Given the description of an element on the screen output the (x, y) to click on. 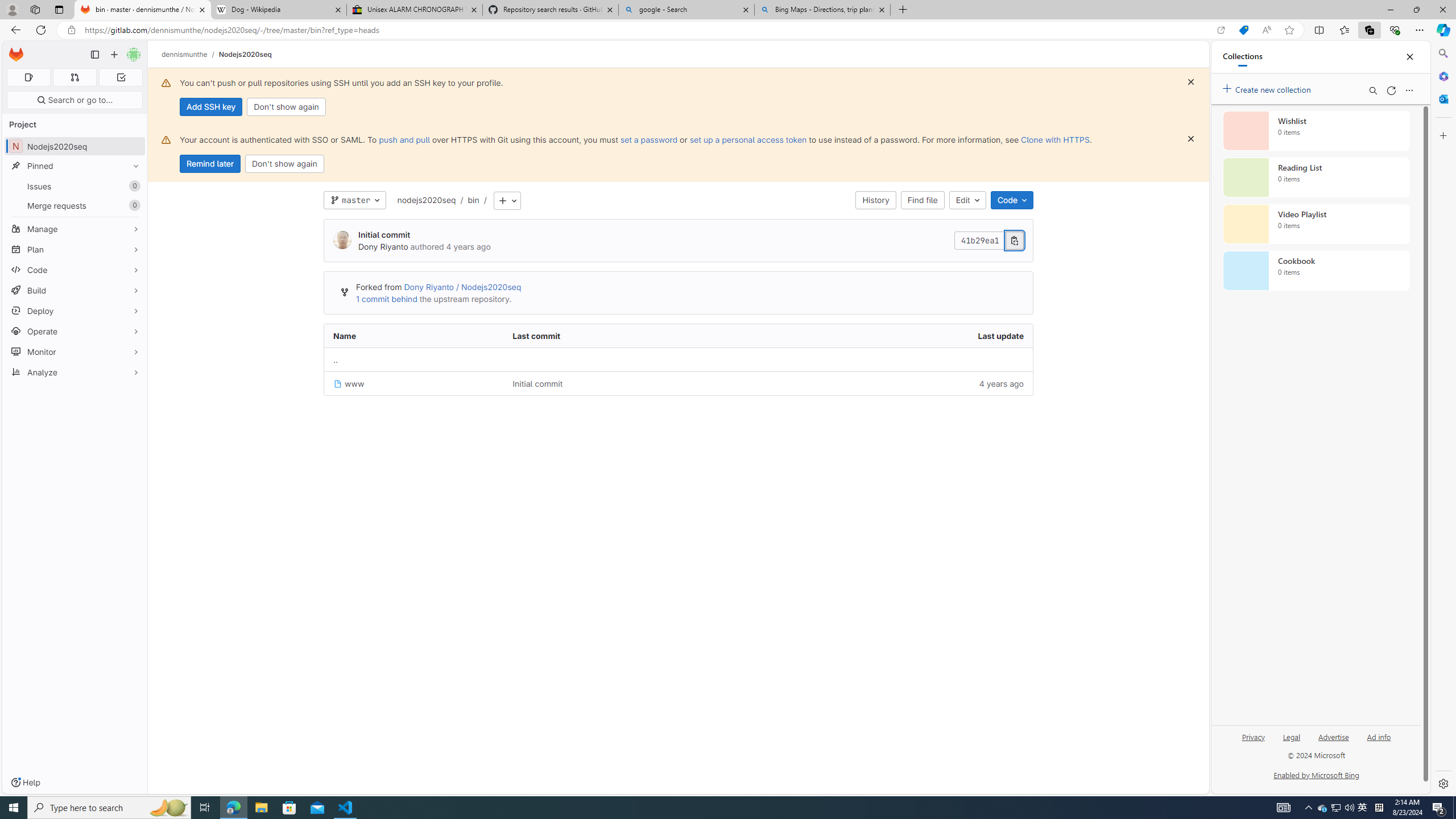
Don't show again (284, 163)
Build (74, 289)
Dony Riyanto / Nodejs2020seq (462, 286)
Video Playlist collection, 0 items (1316, 223)
Cookbook collection, 0 items (1316, 270)
Find file (921, 199)
Edit (967, 199)
Shopping in Microsoft Edge (1243, 29)
Initial commit (627, 383)
4 years ago (892, 383)
Last commit (627, 336)
